Given the description of an element on the screen output the (x, y) to click on. 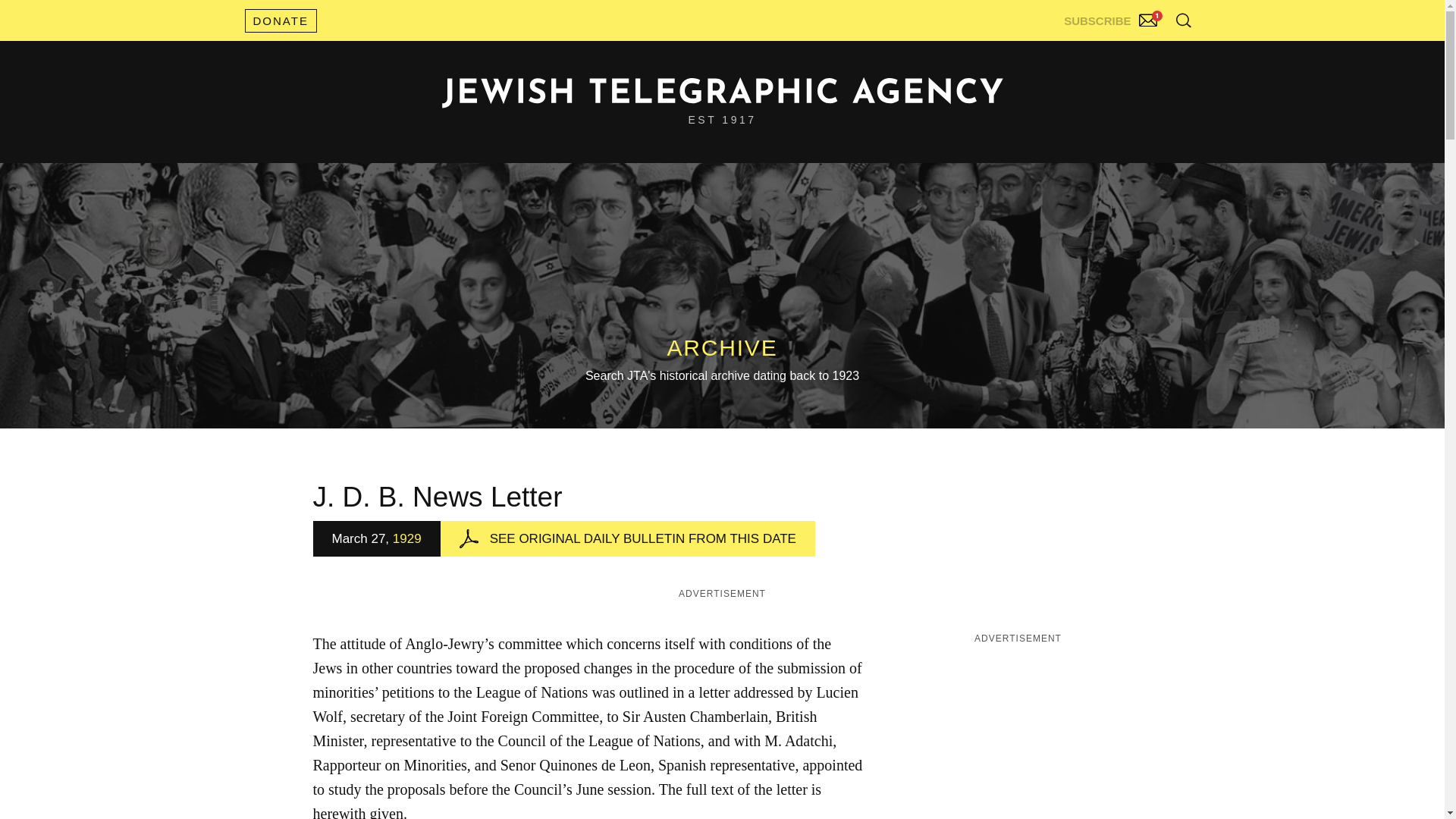
DONATE (279, 20)
Search (1144, 53)
SEARCH TOGGLESEARCH TOGGLE (1182, 20)
SUBSCRIBE (1112, 17)
